Given the description of an element on the screen output the (x, y) to click on. 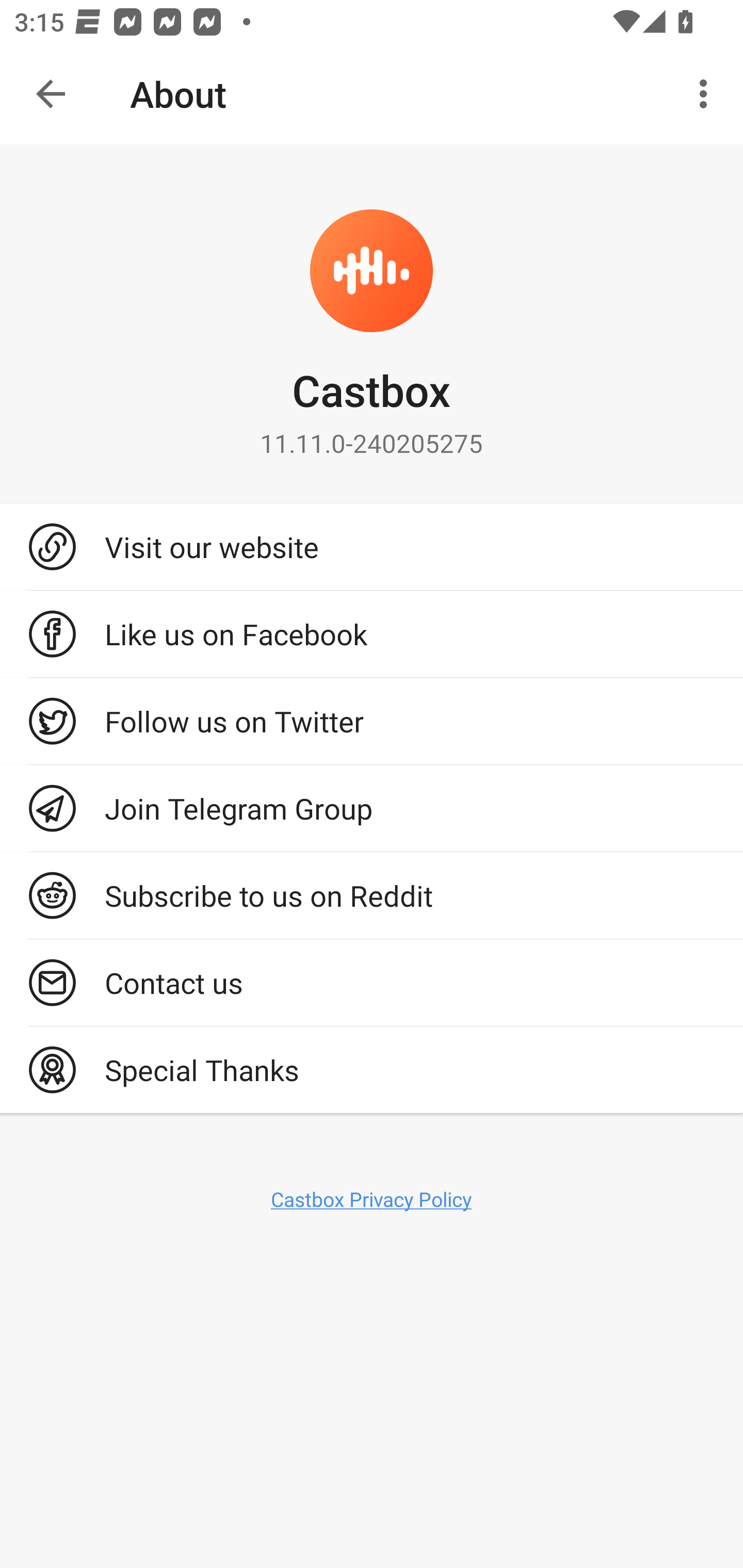
Navigate up (50, 93)
More options (706, 93)
11.11.0-240205275 (371, 442)
 Visit our website (371, 546)
 Like us on Facebook (371, 634)
 Follow us on Twitter (371, 721)
 Join Telegram Group (371, 808)
 Subscribe to us on Reddit (371, 895)
 Contact us (371, 982)
 Special Thanks (371, 1070)
Castbox Privacy Policy (371, 1198)
